Given the description of an element on the screen output the (x, y) to click on. 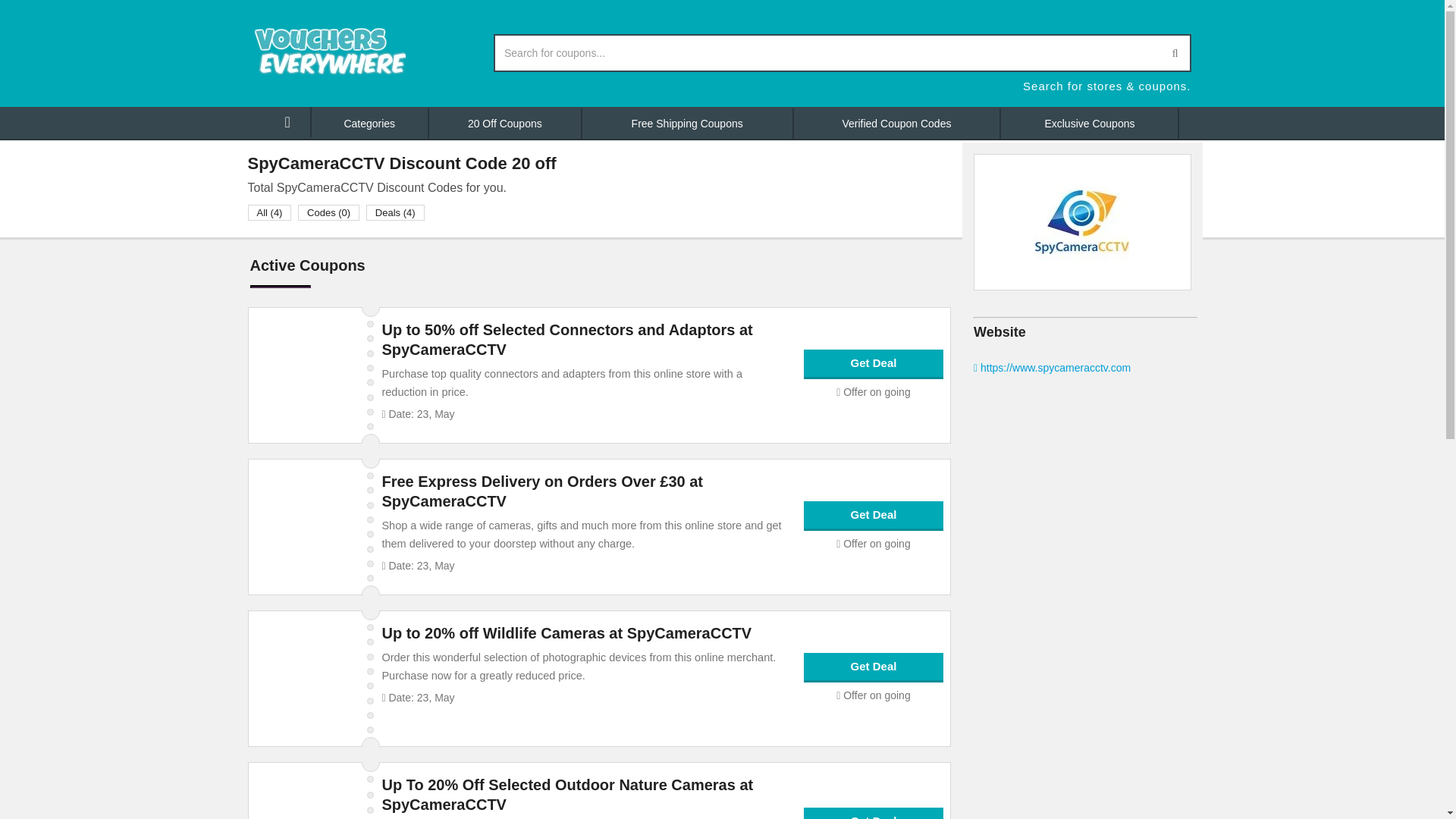
Categories (370, 123)
20 Off Coupons (505, 123)
Exclusive Coupons (1090, 123)
Get Deal (873, 514)
Free Shipping Coupons (687, 123)
Get Deal (873, 817)
Verified Coupon Codes (897, 123)
Get Deal (873, 363)
Get Deal (873, 666)
